Given the description of an element on the screen output the (x, y) to click on. 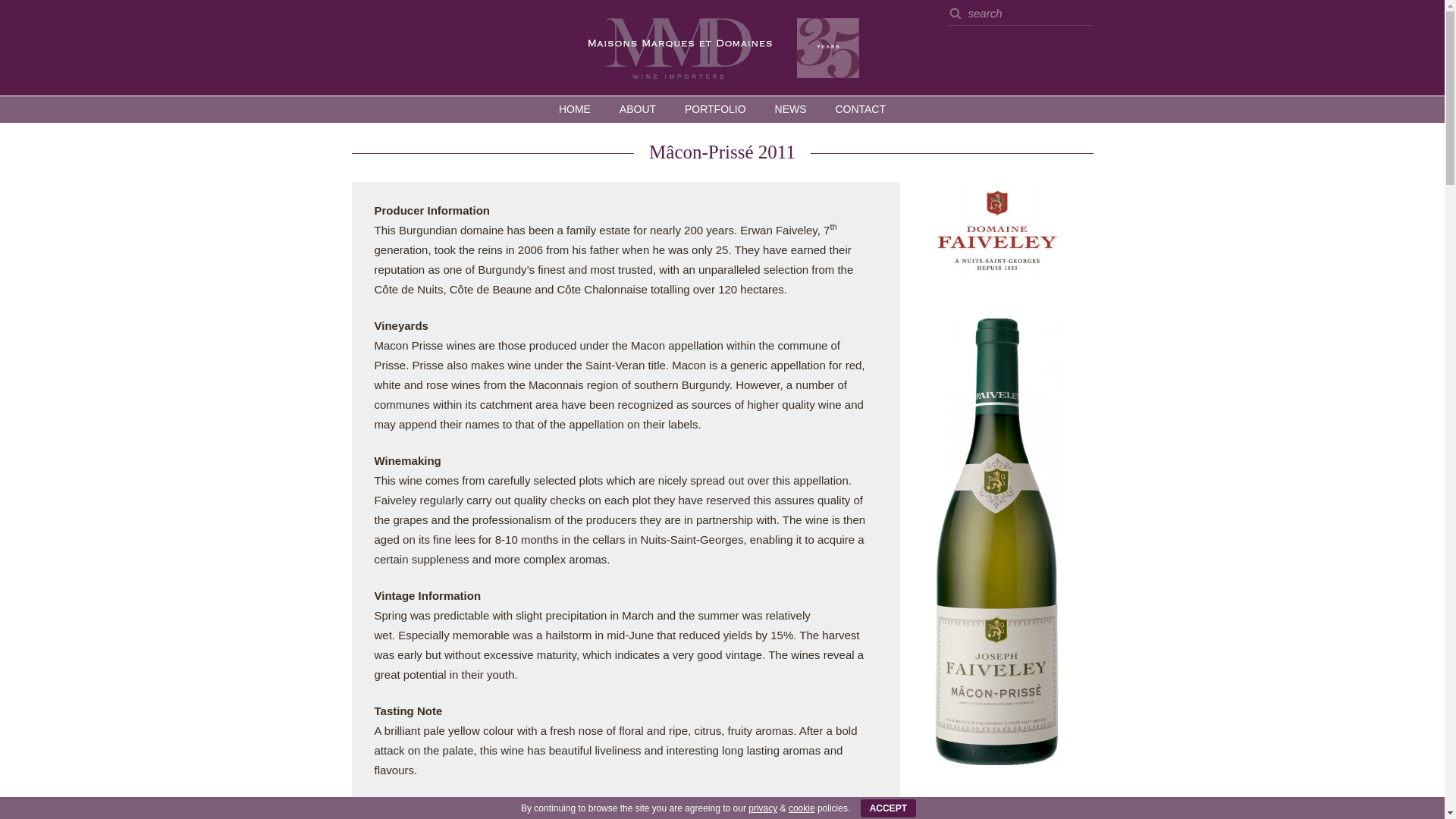
PORTFOLIO (714, 109)
HOME (575, 109)
CONTACT (860, 109)
ABOUT (637, 109)
NEWS (790, 109)
